Given the description of an element on the screen output the (x, y) to click on. 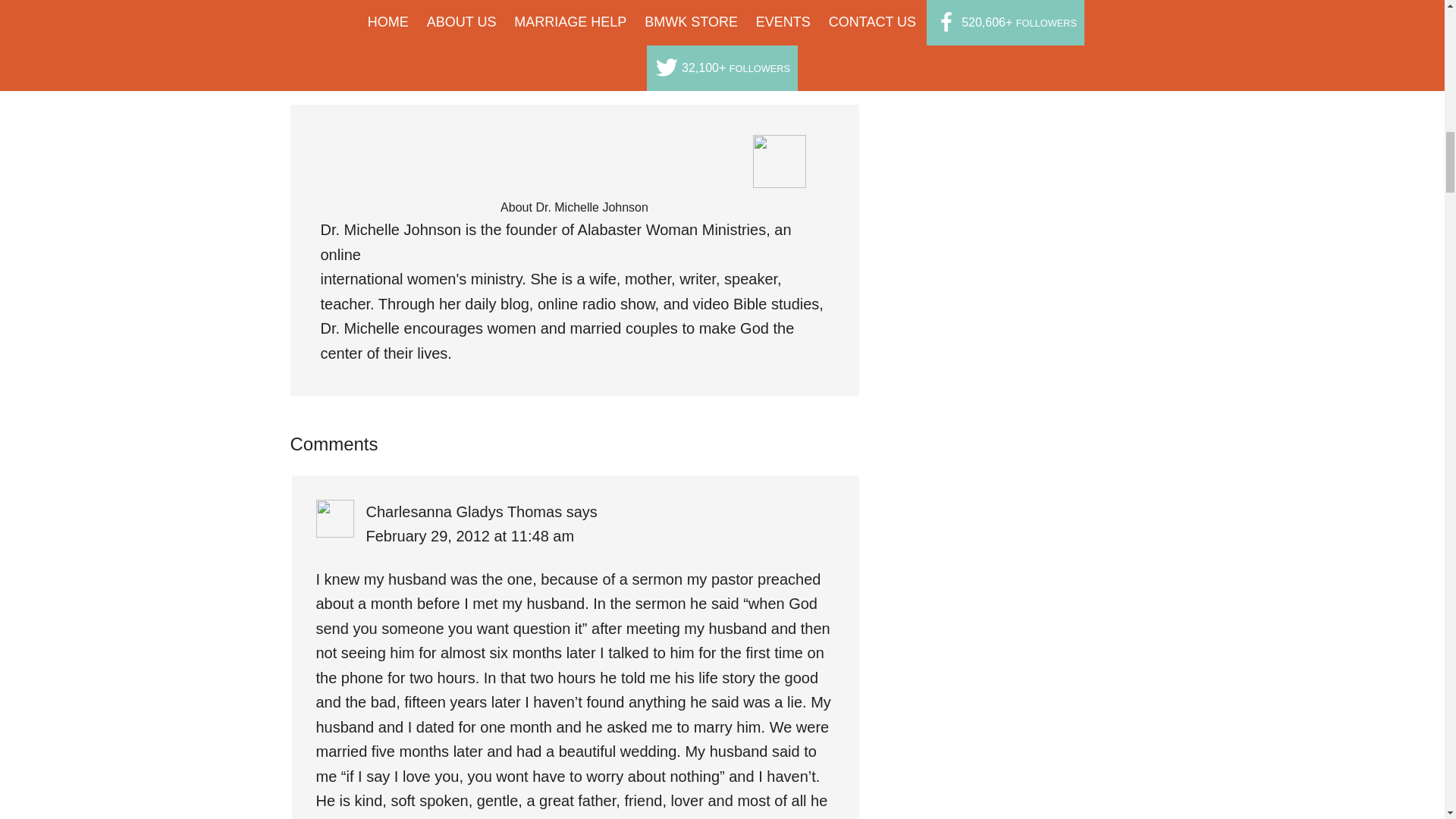
February 29, 2012 at 11:48 am (469, 535)
Relationships (430, 14)
Marriage (371, 14)
marriage (440, 31)
Charlesanna Gladys Thomas (463, 511)
Relationships (499, 31)
engagement (384, 31)
